Given the description of an element on the screen output the (x, y) to click on. 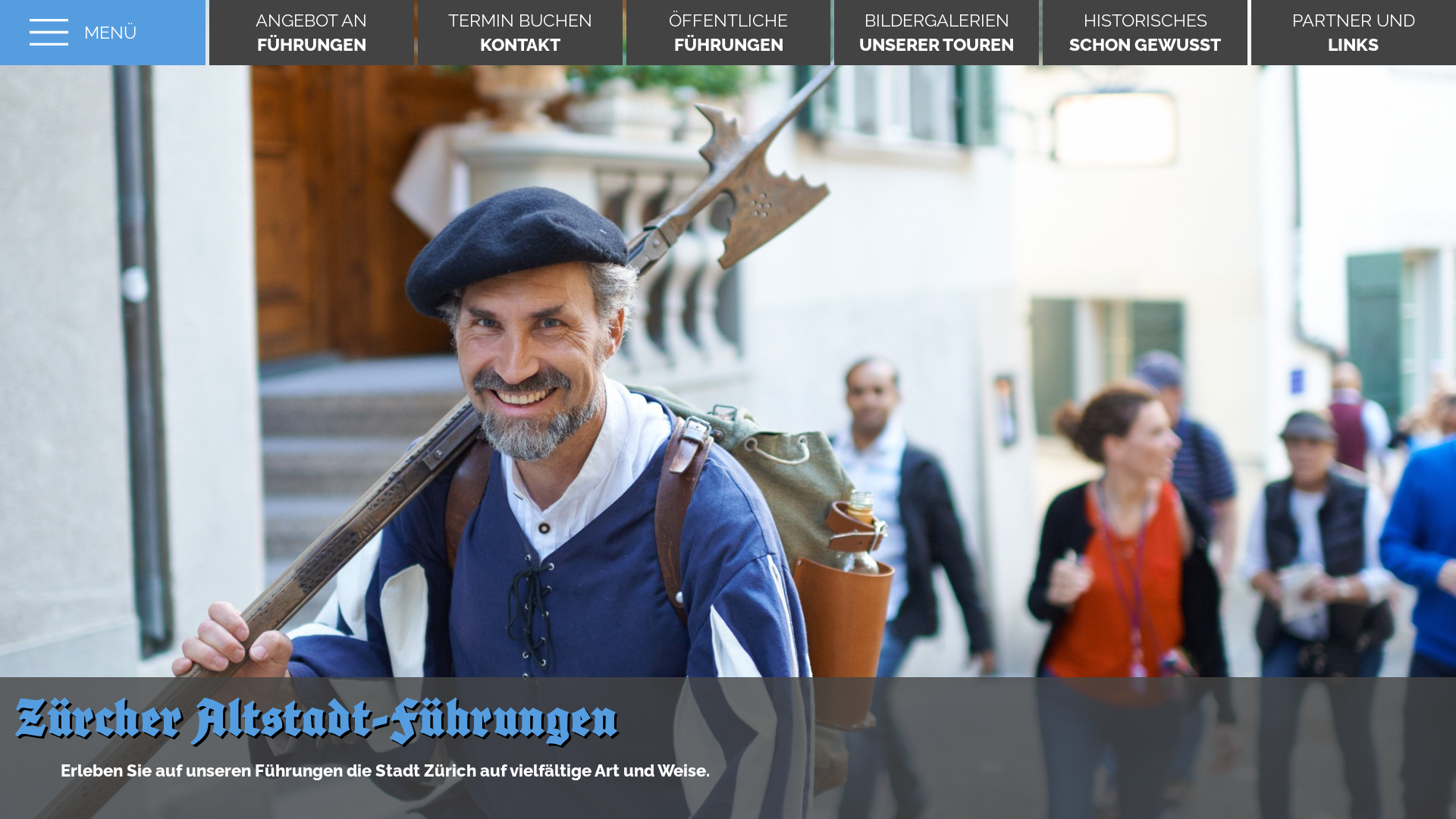
BILDERGALERIEN
UNSERER TOUREN Element type: text (936, 32)
HISTORISCHES
SCHON GEWUSST Element type: text (1144, 32)
TERMIN BUCHEN
KONTAKT Element type: text (519, 32)
